Given the description of an element on the screen output the (x, y) to click on. 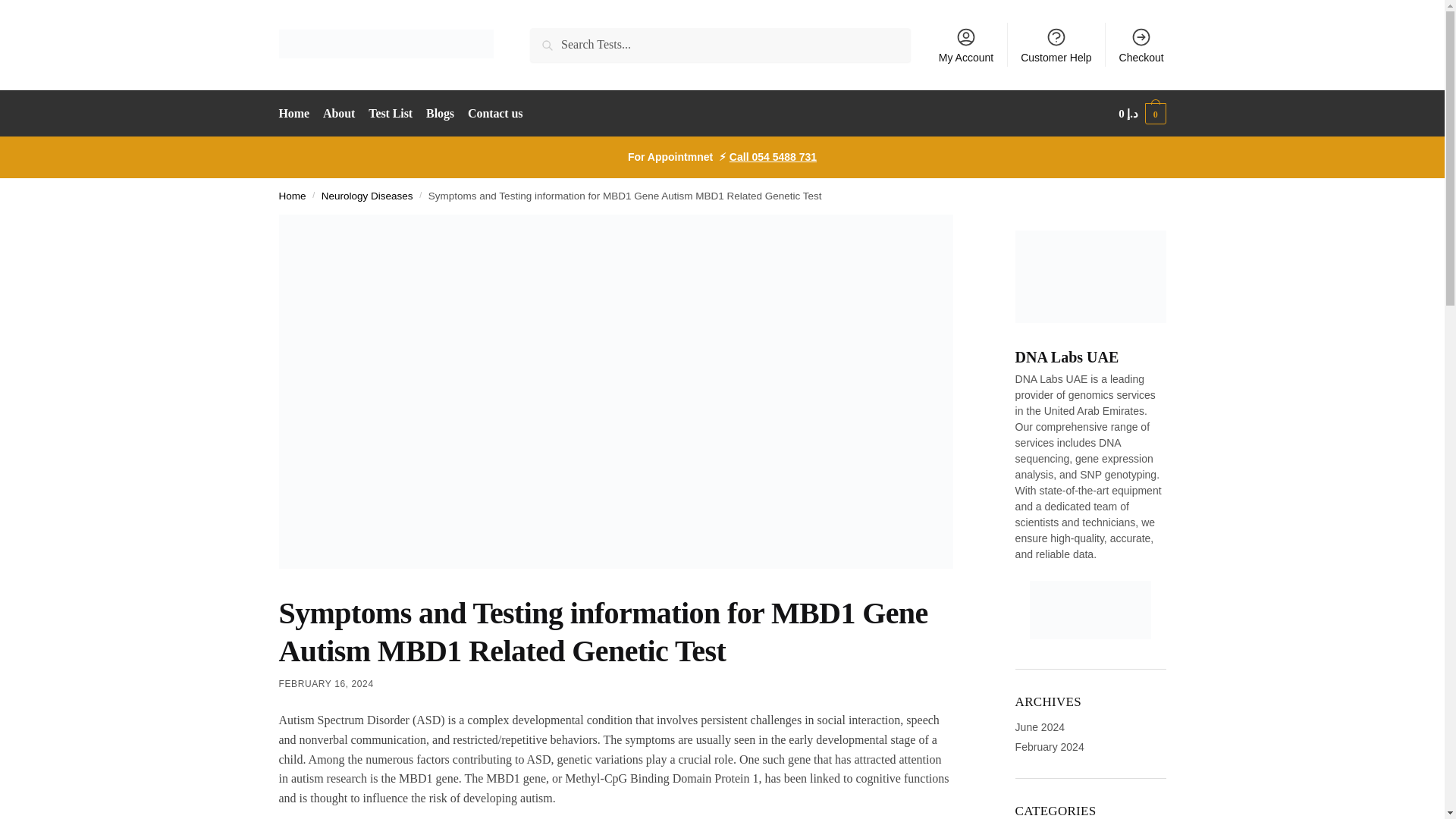
Test List (390, 113)
Home (292, 195)
Checkout (1141, 44)
June 2024 (1039, 727)
February 2024 (1049, 746)
Customer Help (1055, 44)
About (338, 113)
Search (550, 38)
Call 054 5488 731 (772, 156)
Contact us (495, 113)
